Given the description of an element on the screen output the (x, y) to click on. 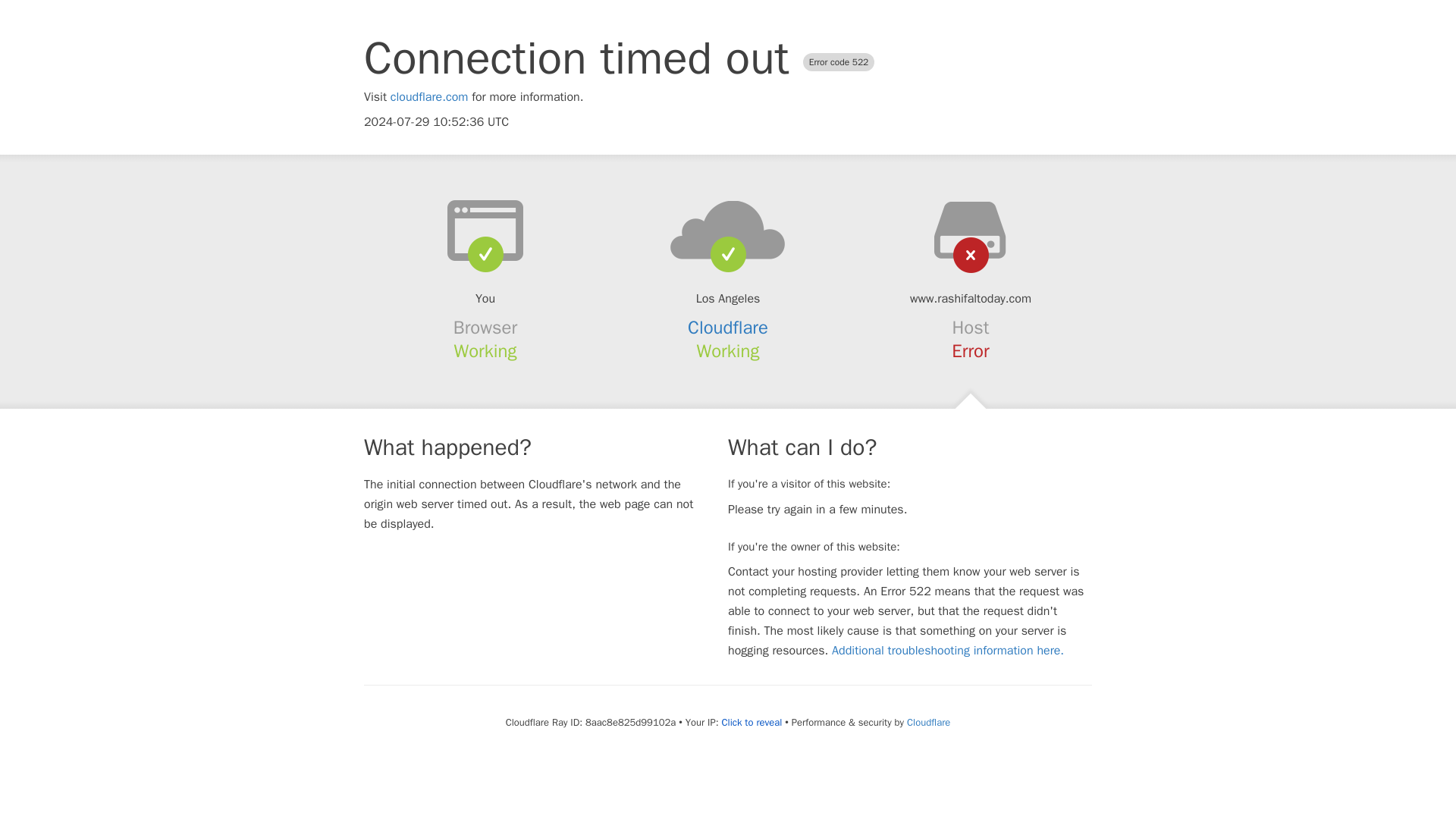
Additional troubleshooting information here. (947, 650)
Cloudflare (928, 721)
Cloudflare (727, 327)
Click to reveal (750, 722)
cloudflare.com (429, 96)
